Given the description of an element on the screen output the (x, y) to click on. 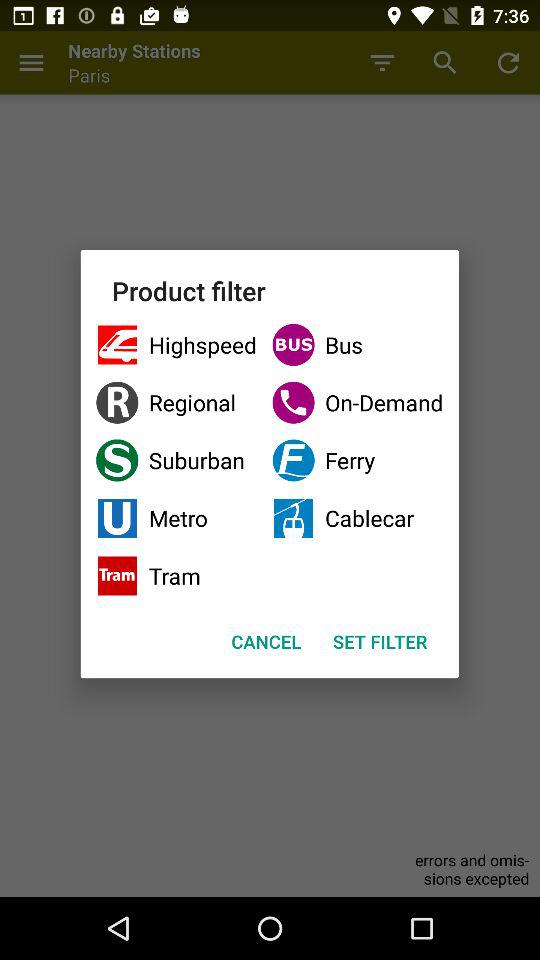
click item to the right of the highspeed item (357, 402)
